Given the description of an element on the screen output the (x, y) to click on. 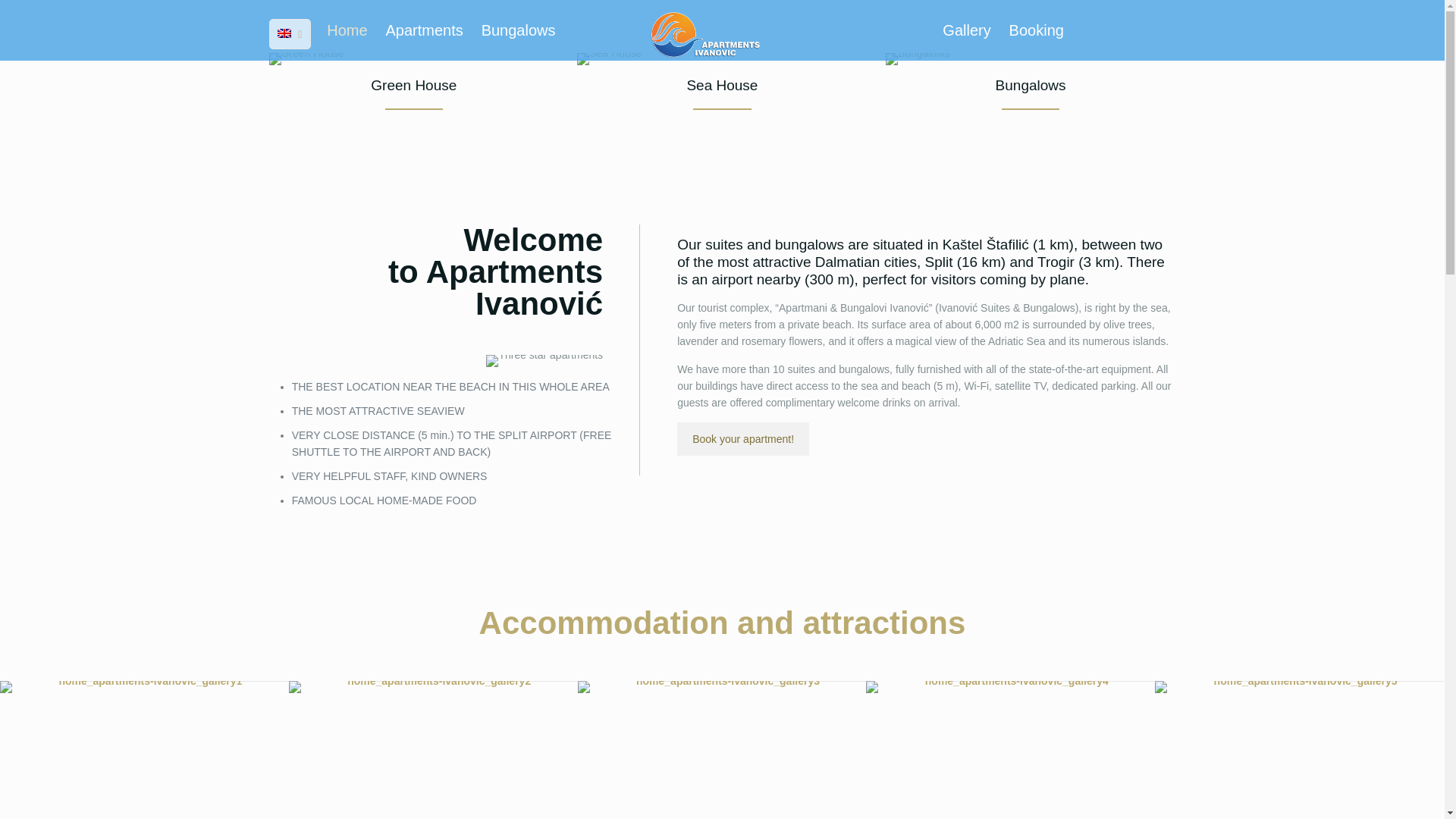
Apartments (423, 30)
Green House (414, 89)
Book your apartment! (743, 438)
Bungalows (518, 30)
Sea House (721, 89)
Booking (1036, 30)
Gallery (965, 30)
Bungalows (1029, 89)
Home (346, 30)
